Given the description of an element on the screen output the (x, y) to click on. 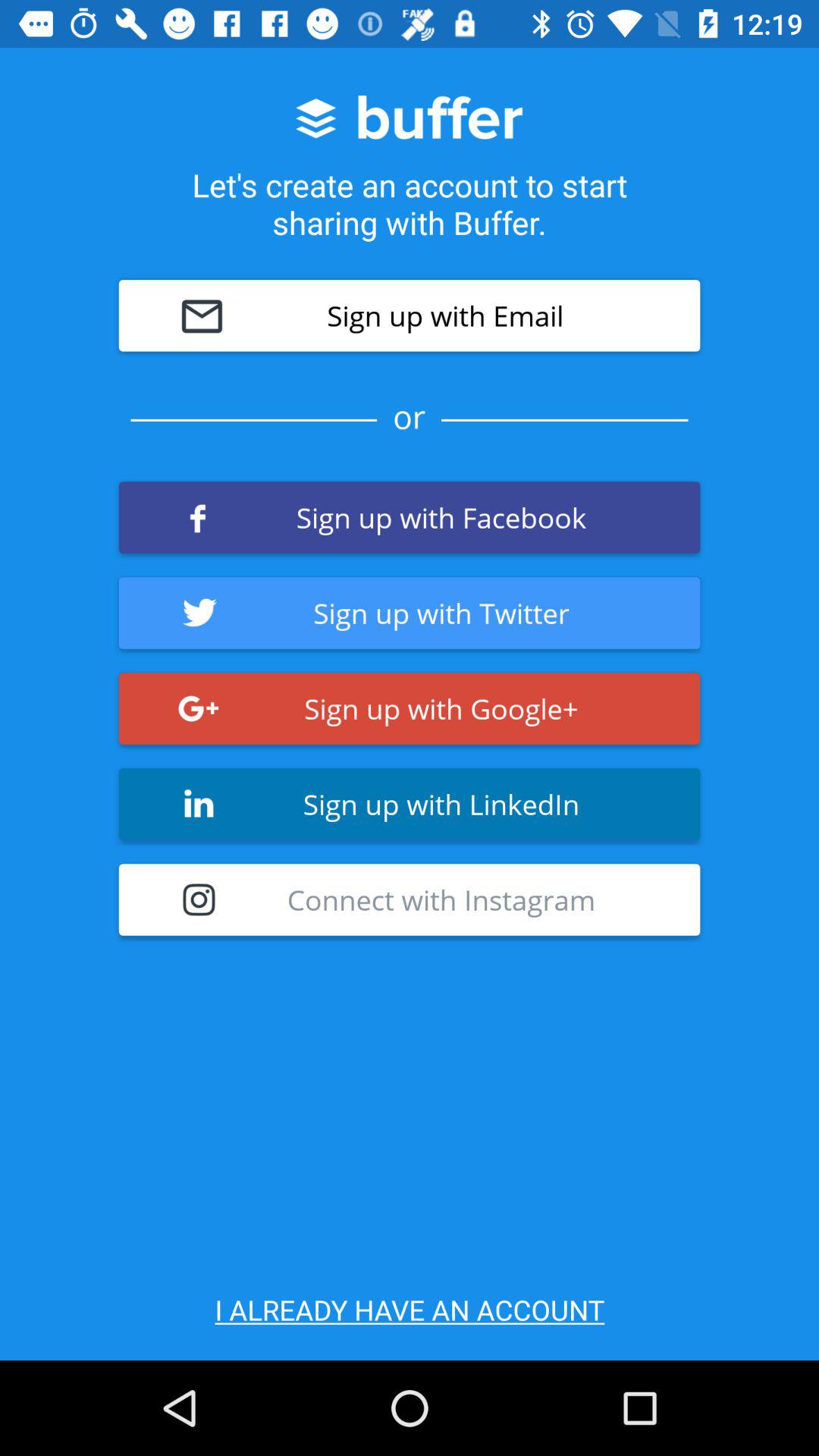
choose the item above the i already have item (409, 899)
